Given the description of an element on the screen output the (x, y) to click on. 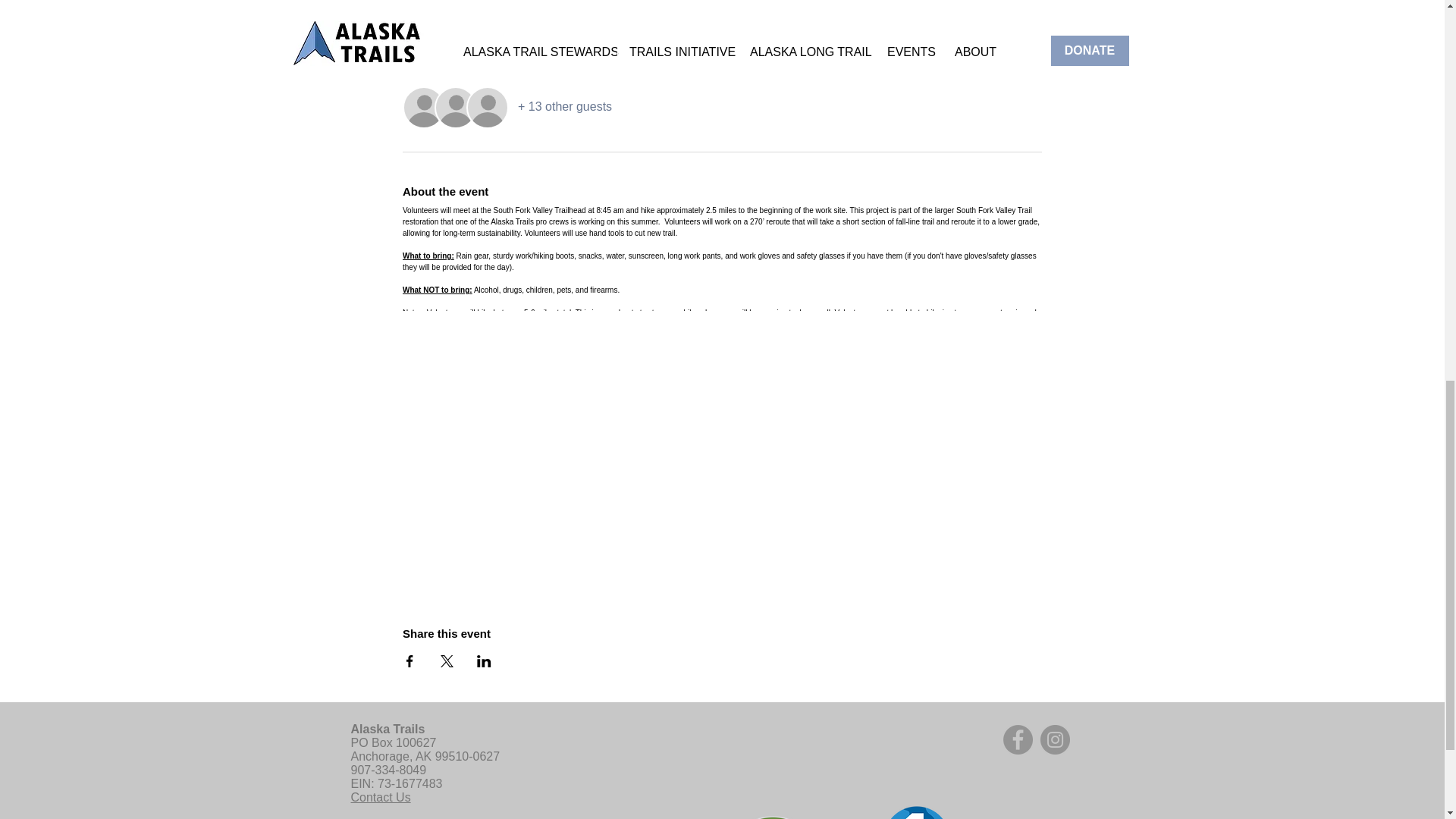
Contact Us (380, 797)
